Given the description of an element on the screen output the (x, y) to click on. 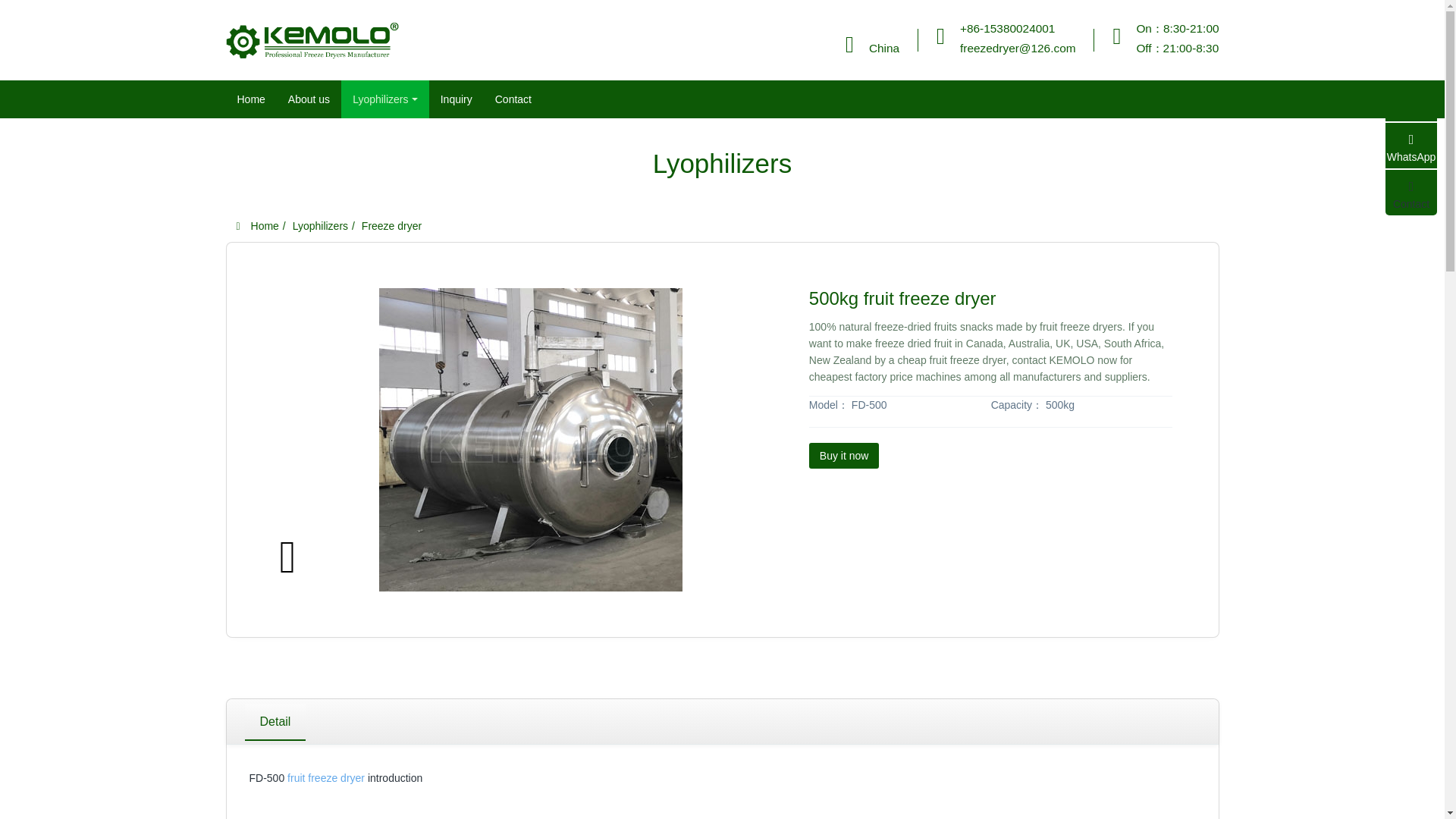
Home (250, 98)
Inquiry (456, 98)
Lyophilizers (384, 98)
Contact (1411, 192)
Freeze dryer (391, 225)
Lyophilizers (319, 225)
Skype (1411, 98)
Home (257, 225)
Lyophilizers (384, 98)
About us (308, 98)
